Given the description of an element on the screen output the (x, y) to click on. 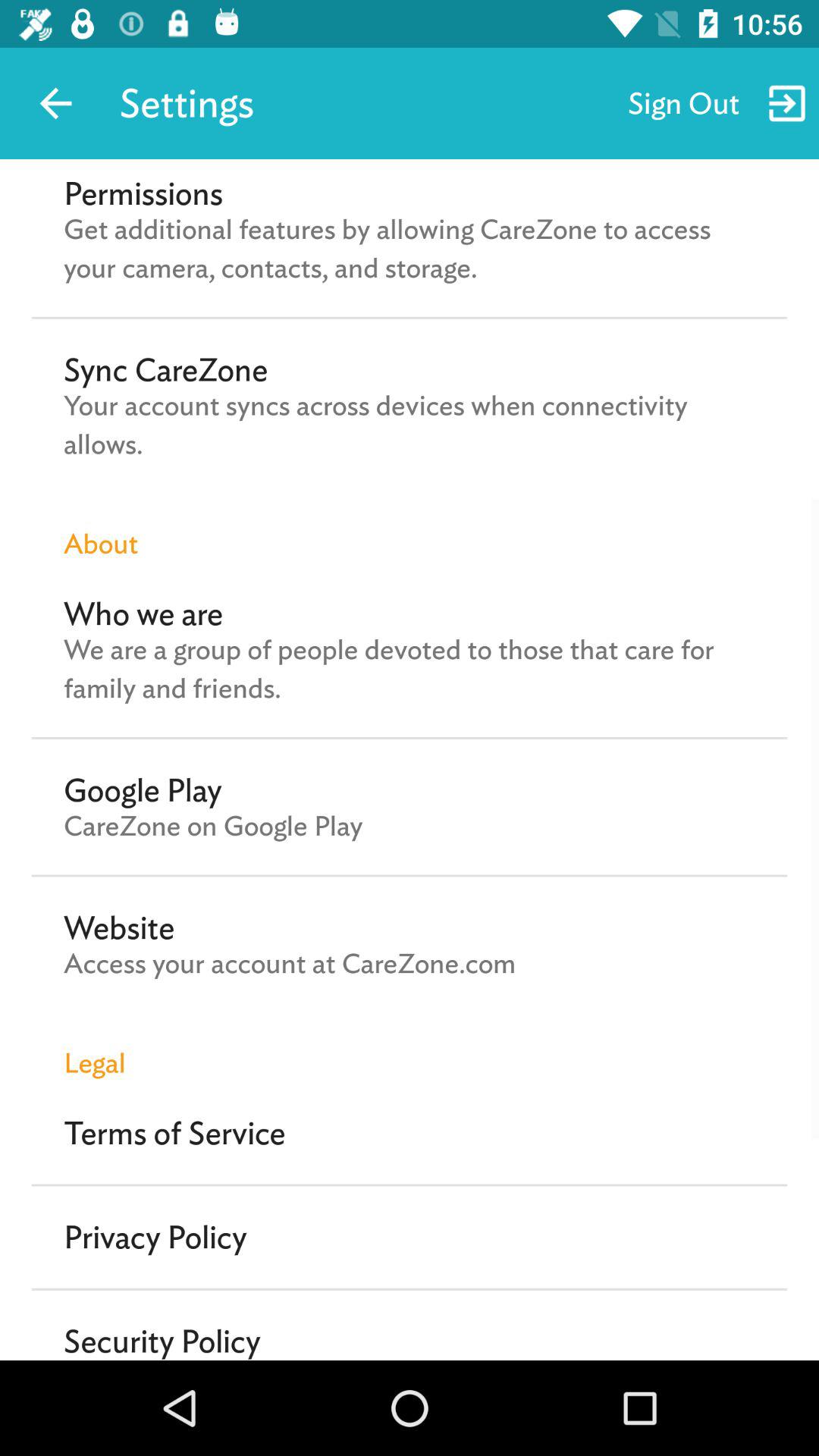
back (55, 103)
